Given the description of an element on the screen output the (x, y) to click on. 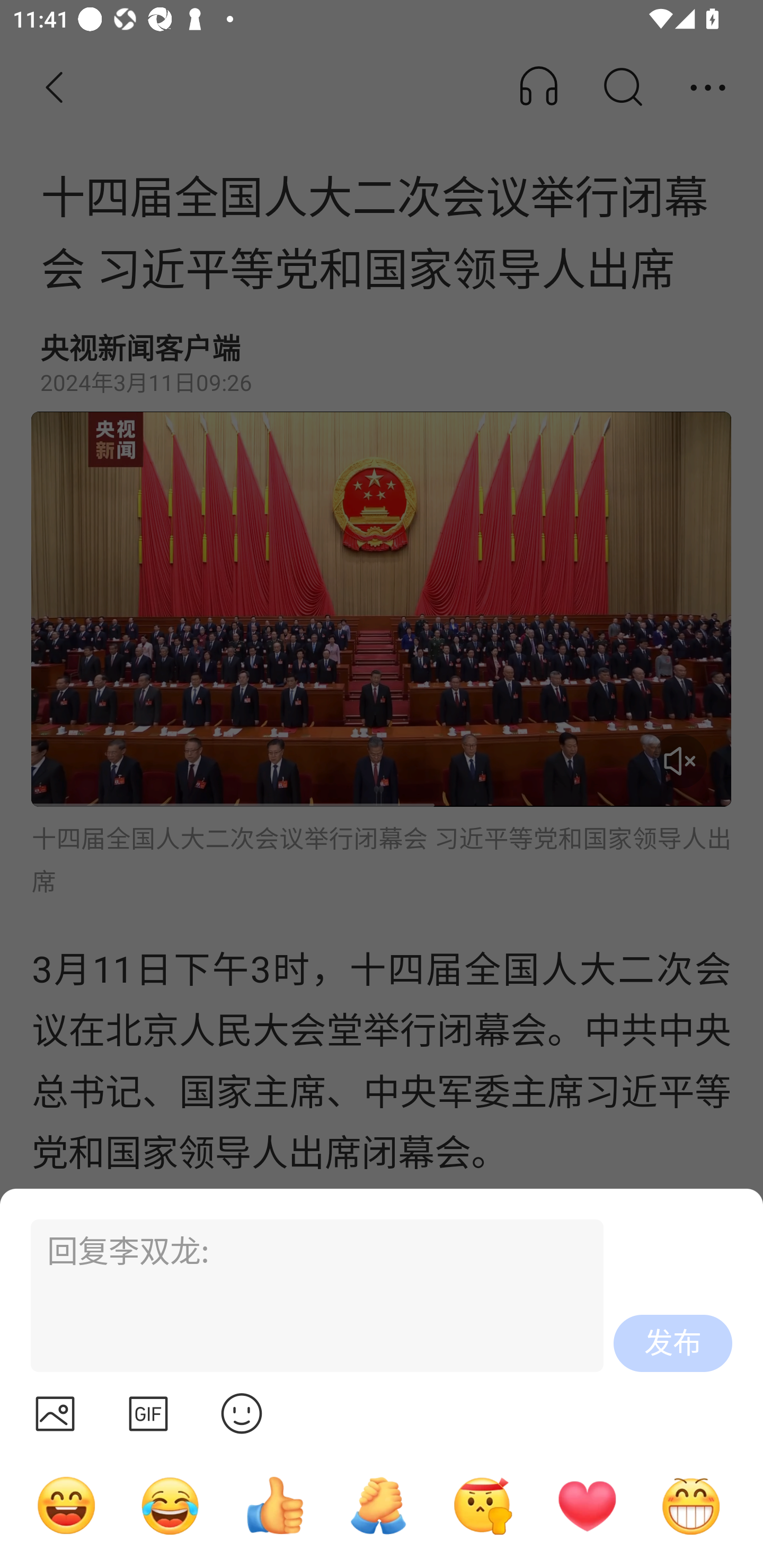
回复李双龙: (308, 1295)
发布 (672, 1343)
 (54, 1413)
 (148, 1413)
 (241, 1413)
哈哈 (66, 1505)
哭笑 (170, 1505)
点赞 (274, 1505)
加油 (378, 1505)
奋斗 (482, 1505)
心 (586, 1505)
呲牙 (690, 1505)
